Given the description of an element on the screen output the (x, y) to click on. 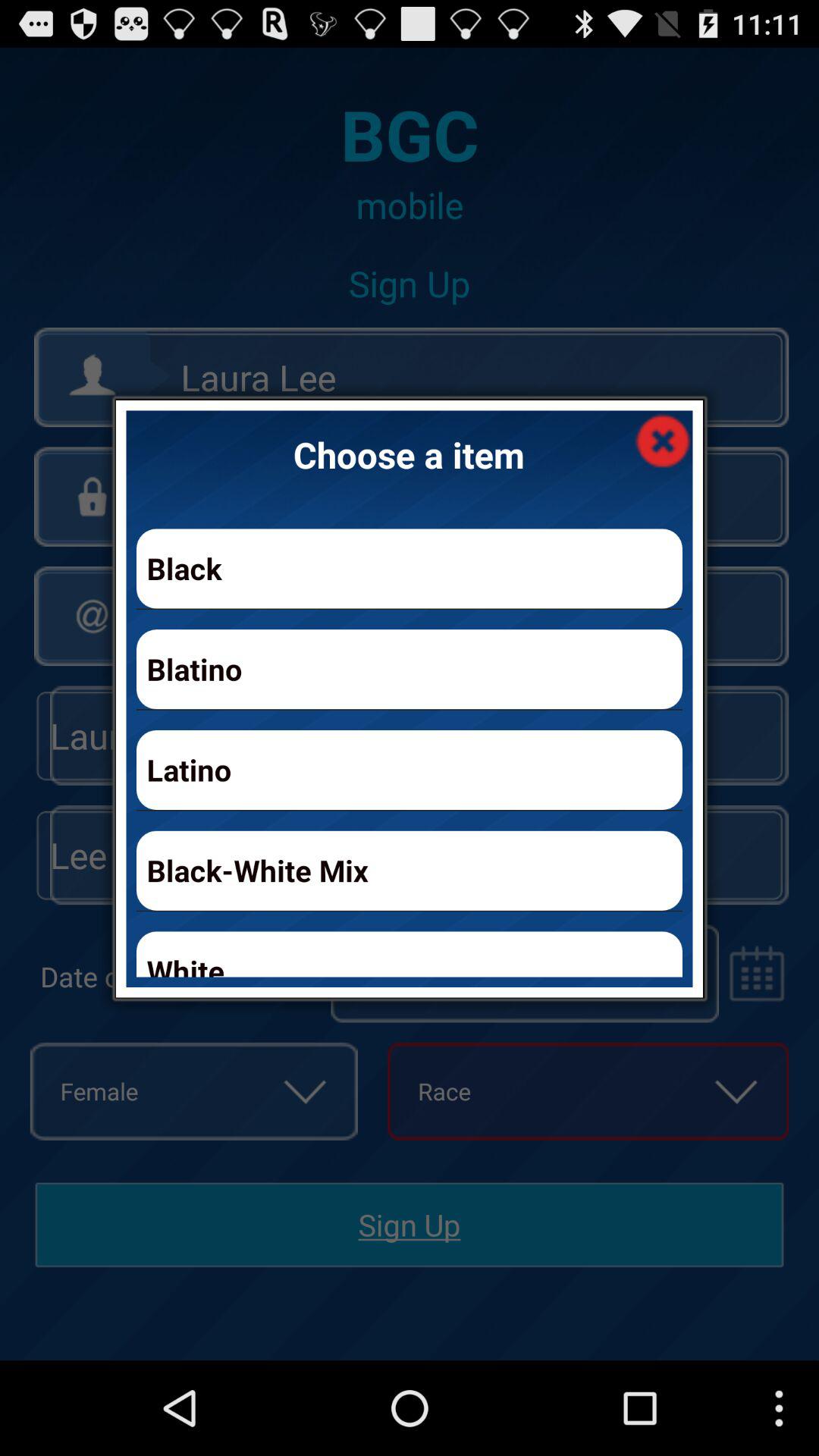
click blatino app (409, 669)
